Given the description of an element on the screen output the (x, y) to click on. 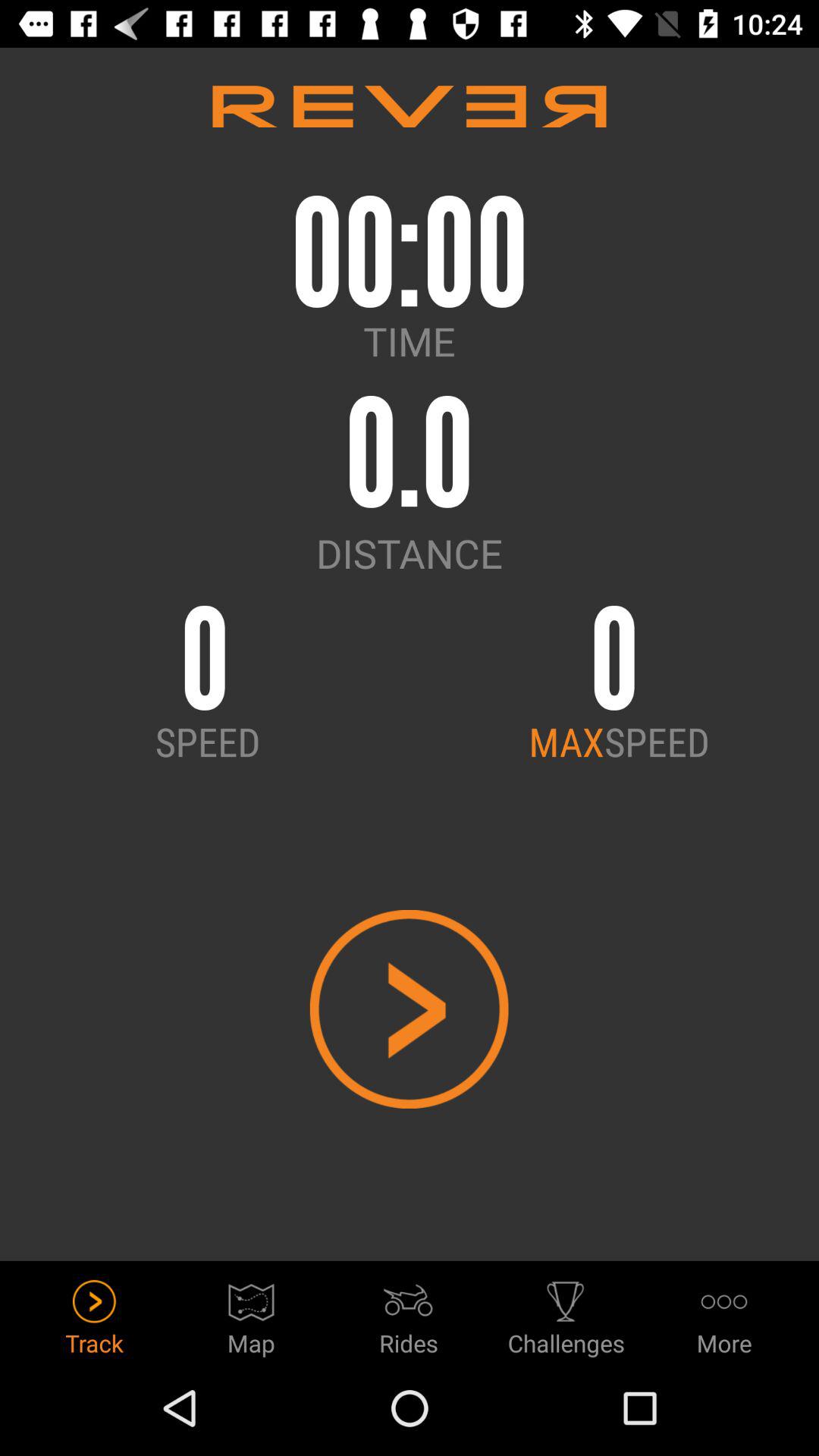
select the icon next to the map item (408, 1313)
